Given the description of an element on the screen output the (x, y) to click on. 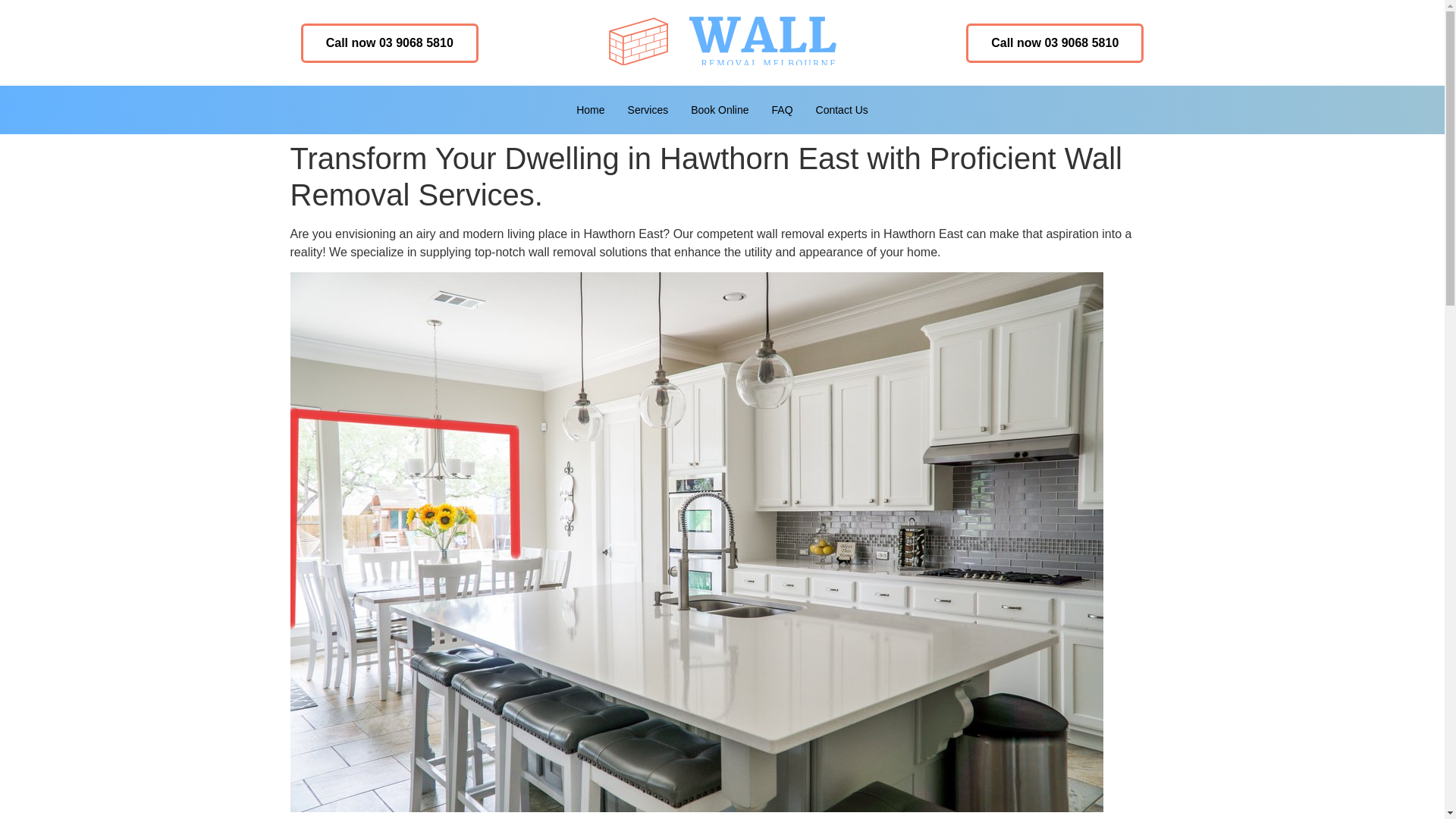
FAQ (782, 109)
Services (647, 109)
Contact Us (842, 109)
Home (589, 109)
Book Online (719, 109)
Call now 03 9068 5810 (390, 42)
Call now 03 9068 5810 (1054, 42)
